Given the description of an element on the screen output the (x, y) to click on. 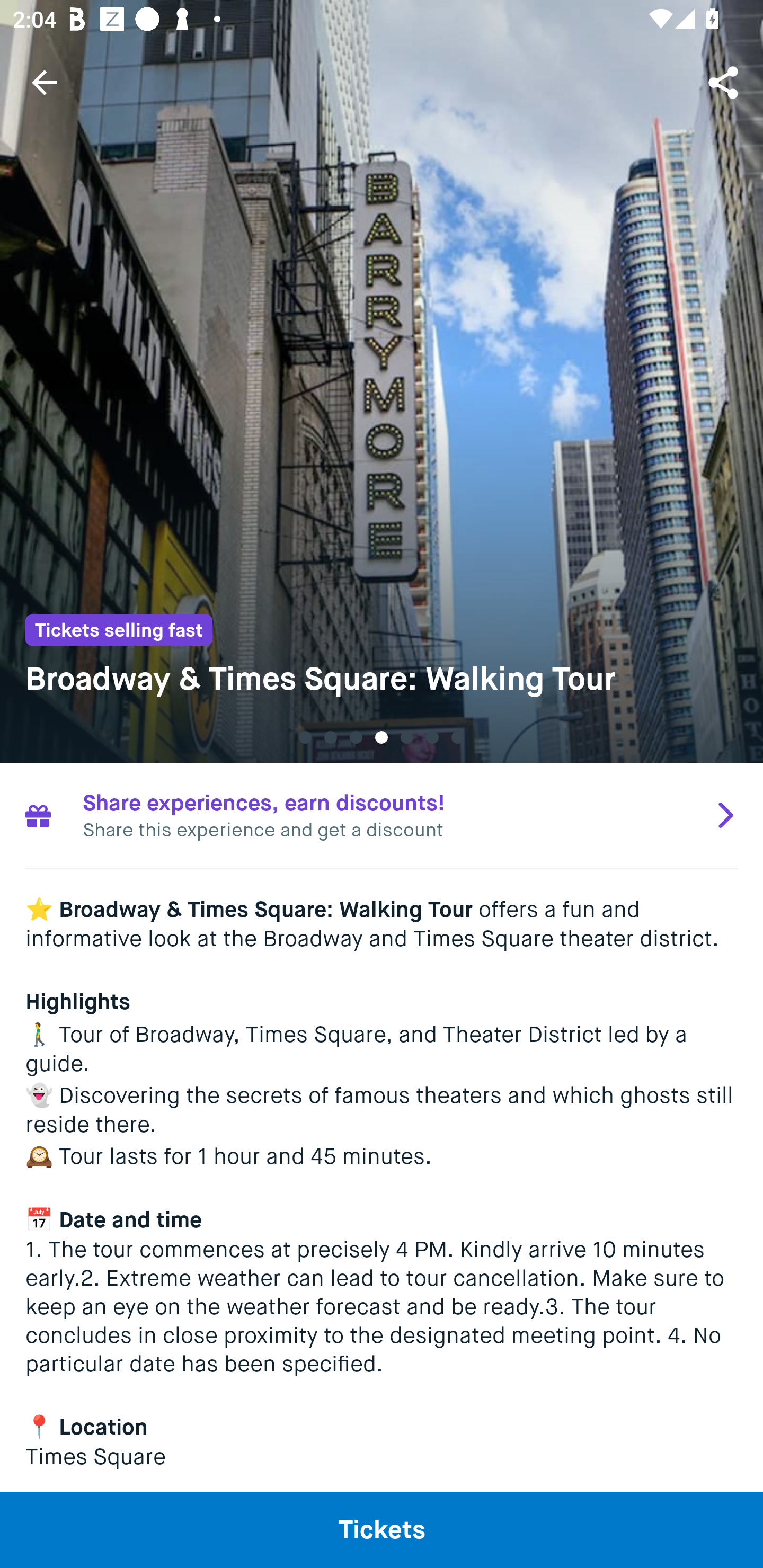
Navigate up (44, 82)
Share (724, 81)
Tickets (381, 1529)
